Given the description of an element on the screen output the (x, y) to click on. 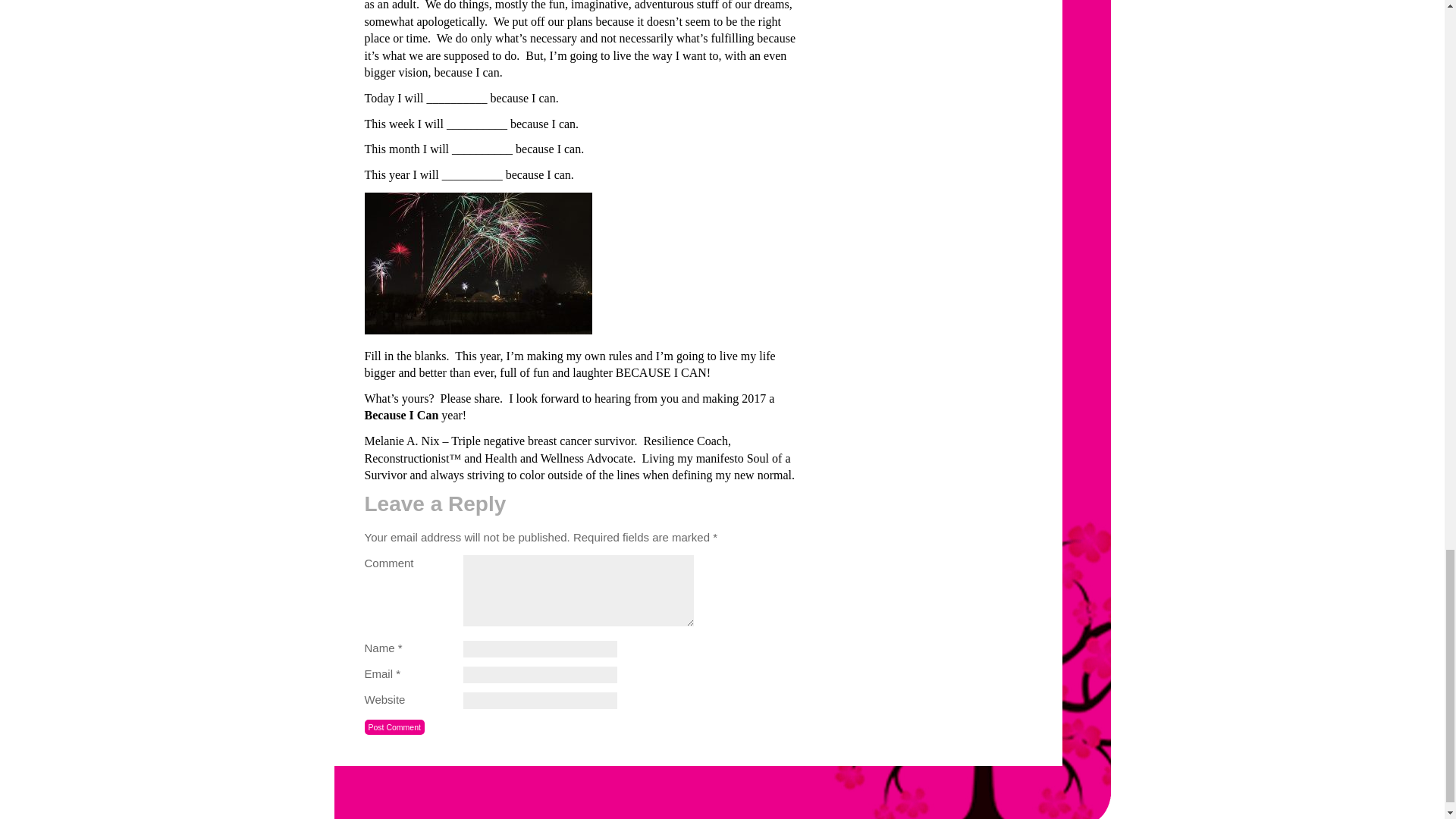
Post Comment (393, 727)
Post Comment (393, 727)
